Given the description of an element on the screen output the (x, y) to click on. 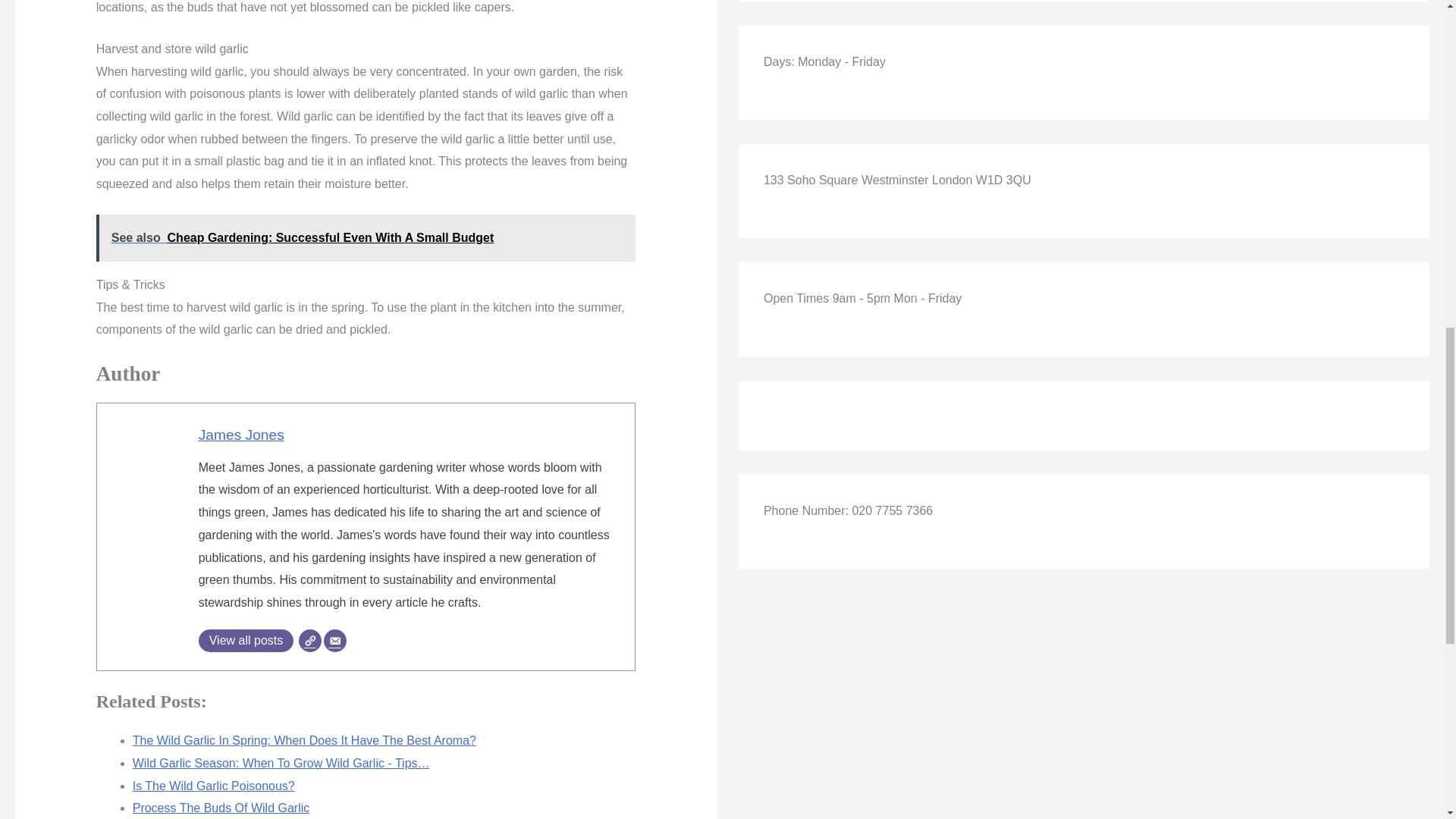
James Jones (240, 434)
View all posts (246, 640)
